Given the description of an element on the screen output the (x, y) to click on. 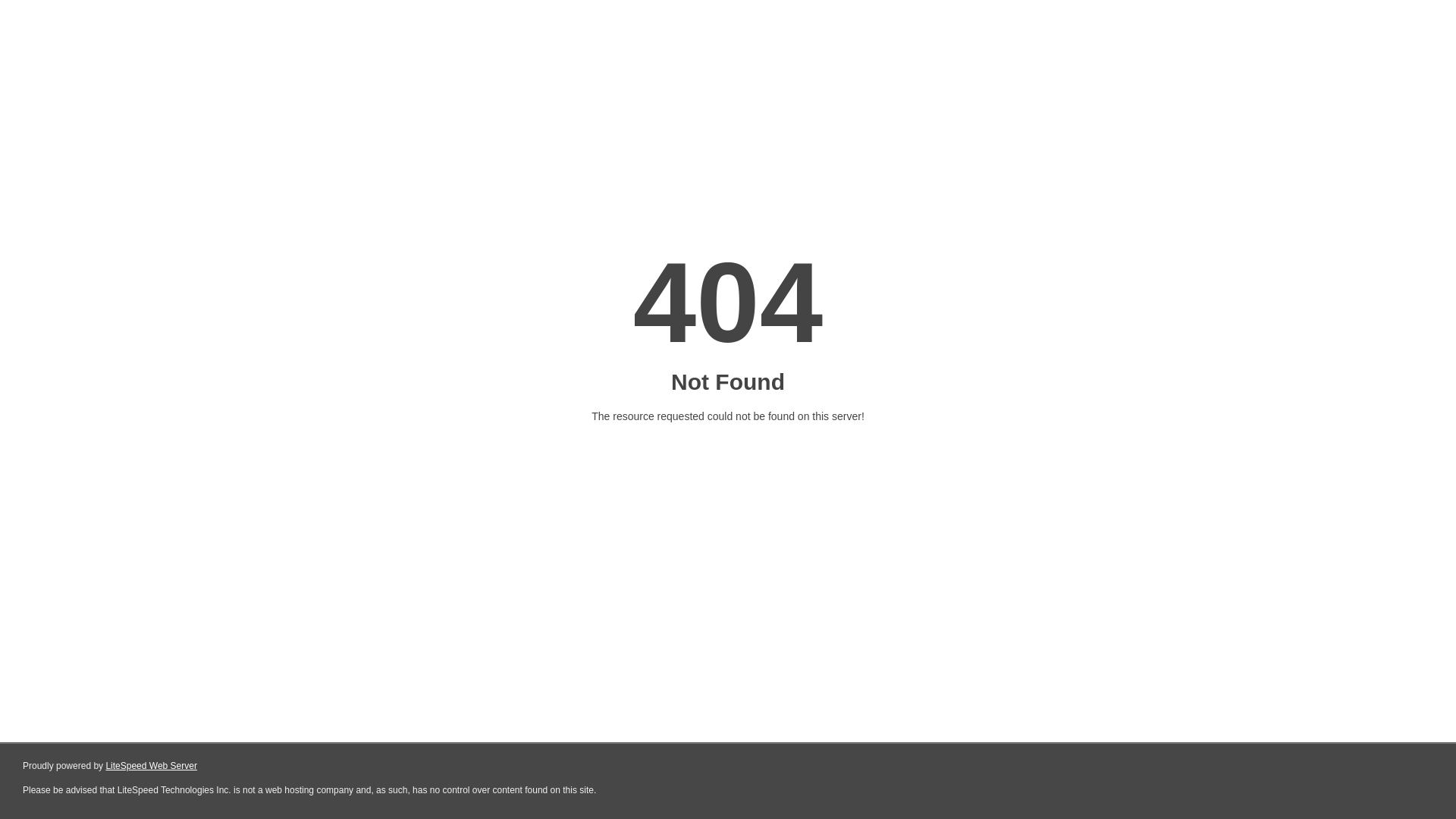
LiteSpeed Web Server Element type: text (151, 765)
